Given the description of an element on the screen output the (x, y) to click on. 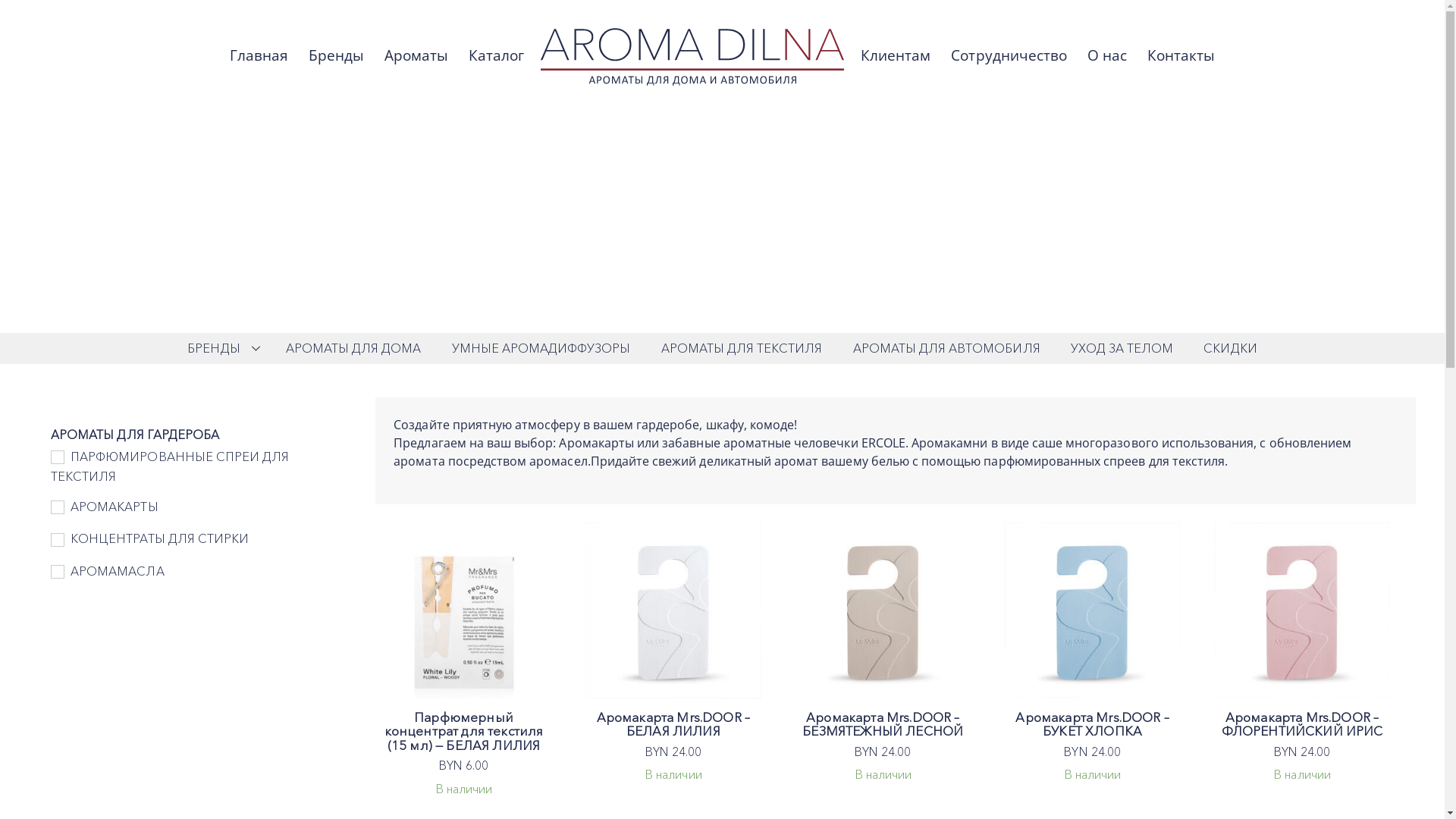
Aroma Dilna Element type: hover (692, 56)
